Given the description of an element on the screen output the (x, y) to click on. 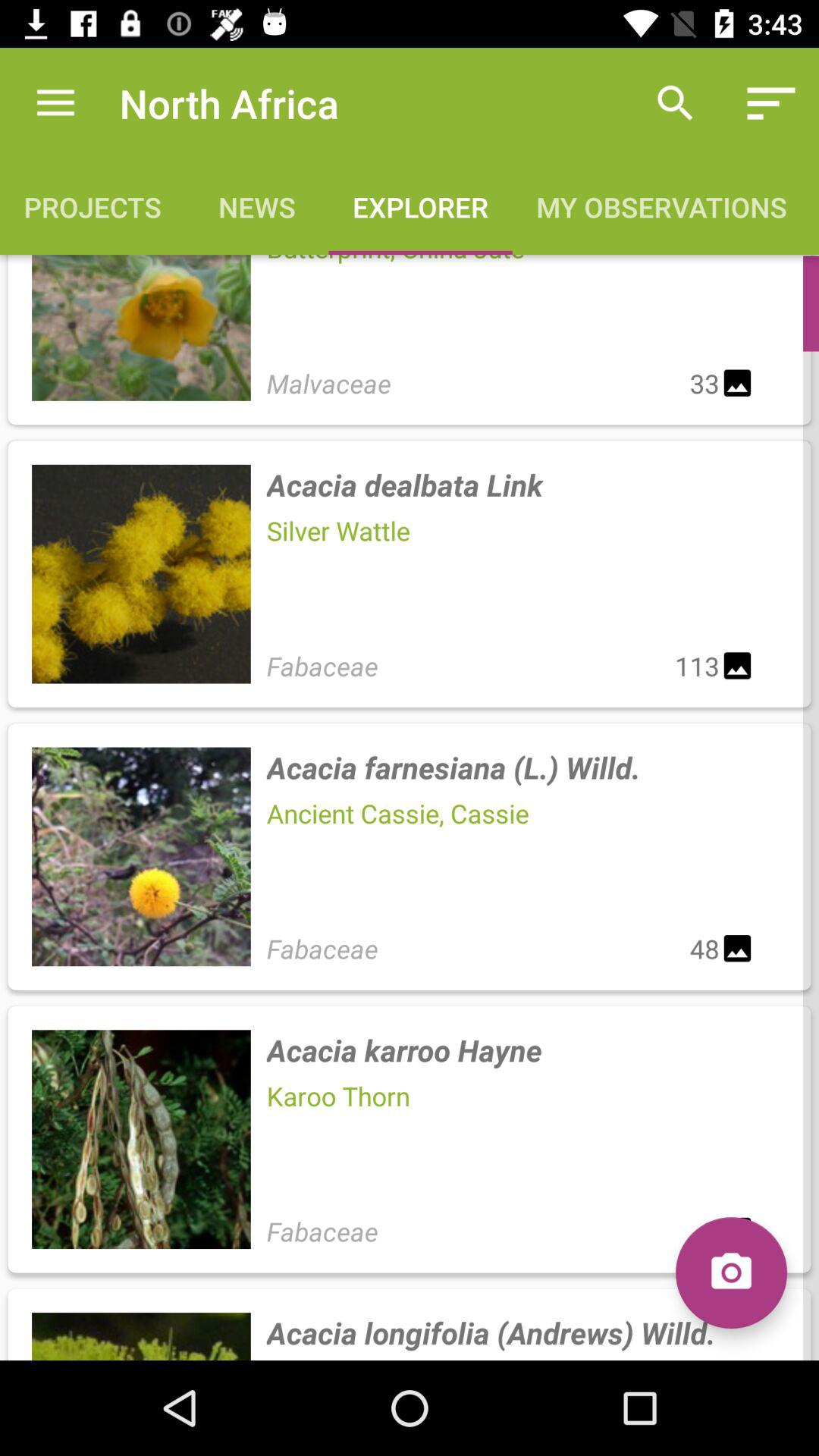
turn on icon next to the north africa icon (55, 103)
